Given the description of an element on the screen output the (x, y) to click on. 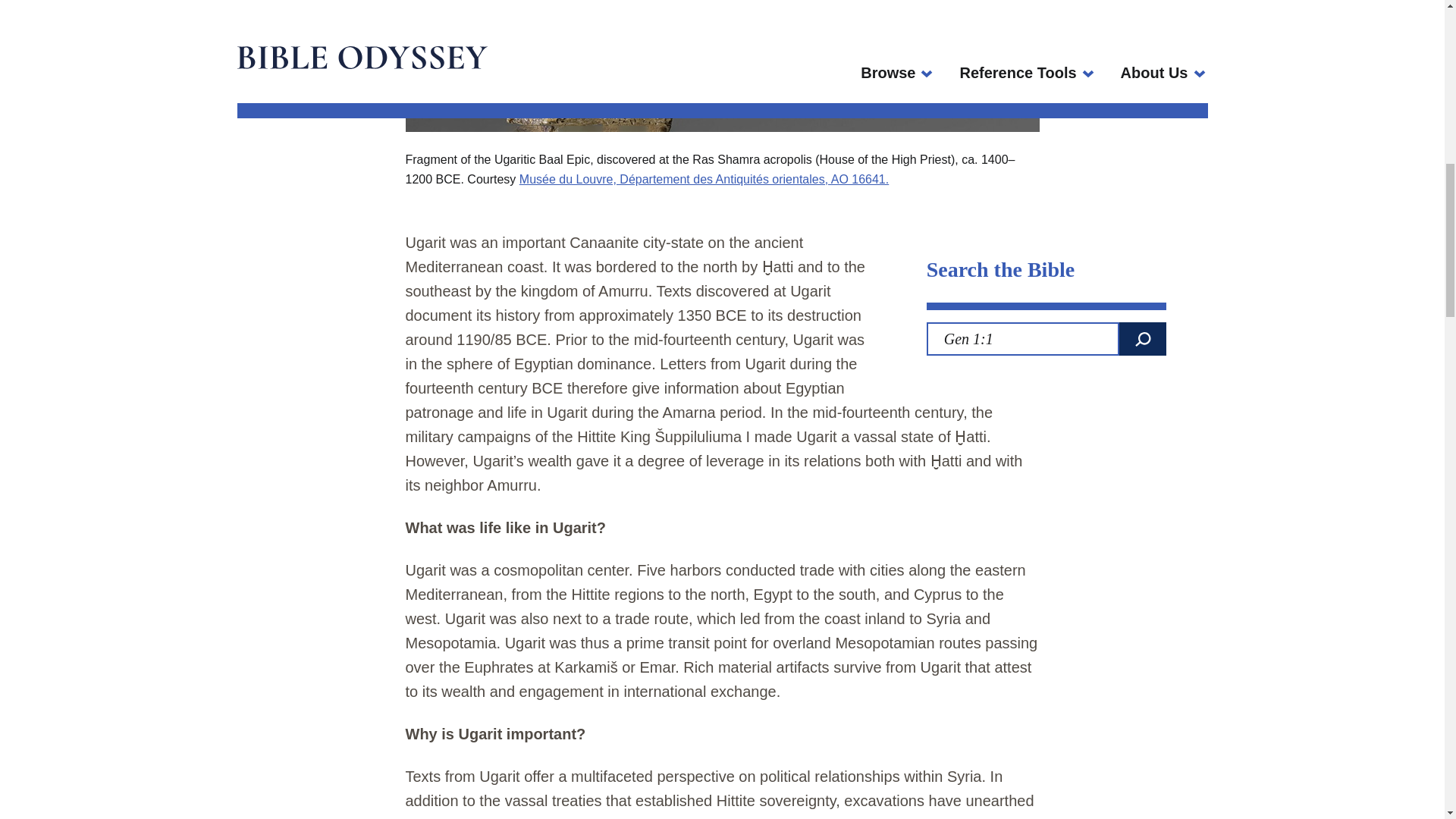
 - opens in a new window (703, 178)
Search (1142, 338)
